Given the description of an element on the screen output the (x, y) to click on. 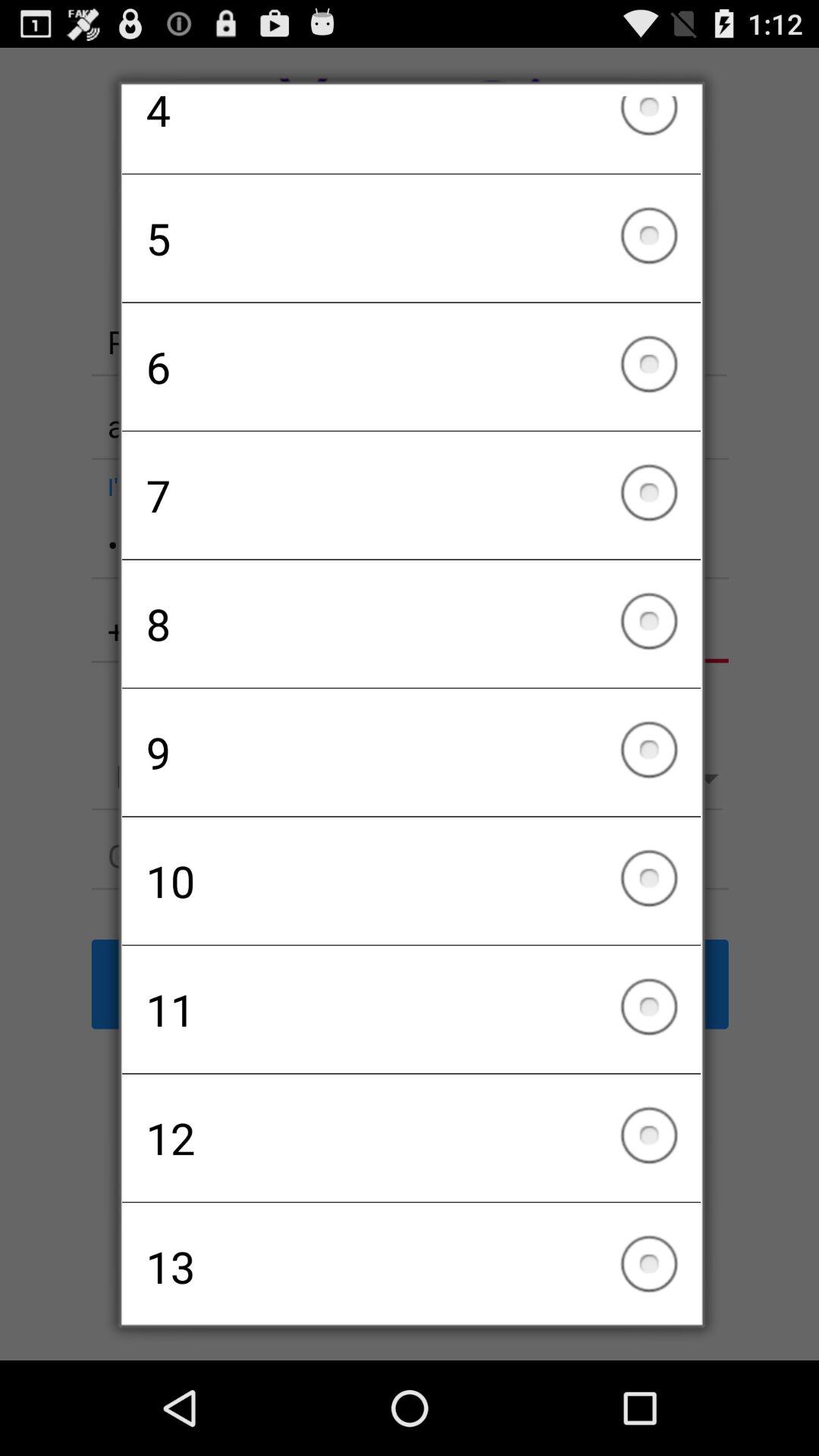
choose checkbox above 7 (411, 366)
